Given the description of an element on the screen output the (x, y) to click on. 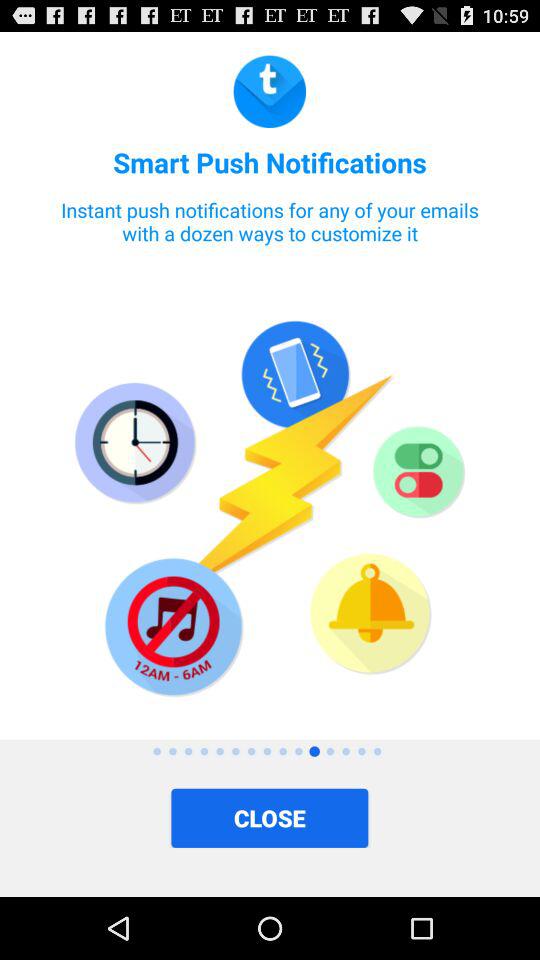
choose the close icon (269, 817)
